Given the description of an element on the screen output the (x, y) to click on. 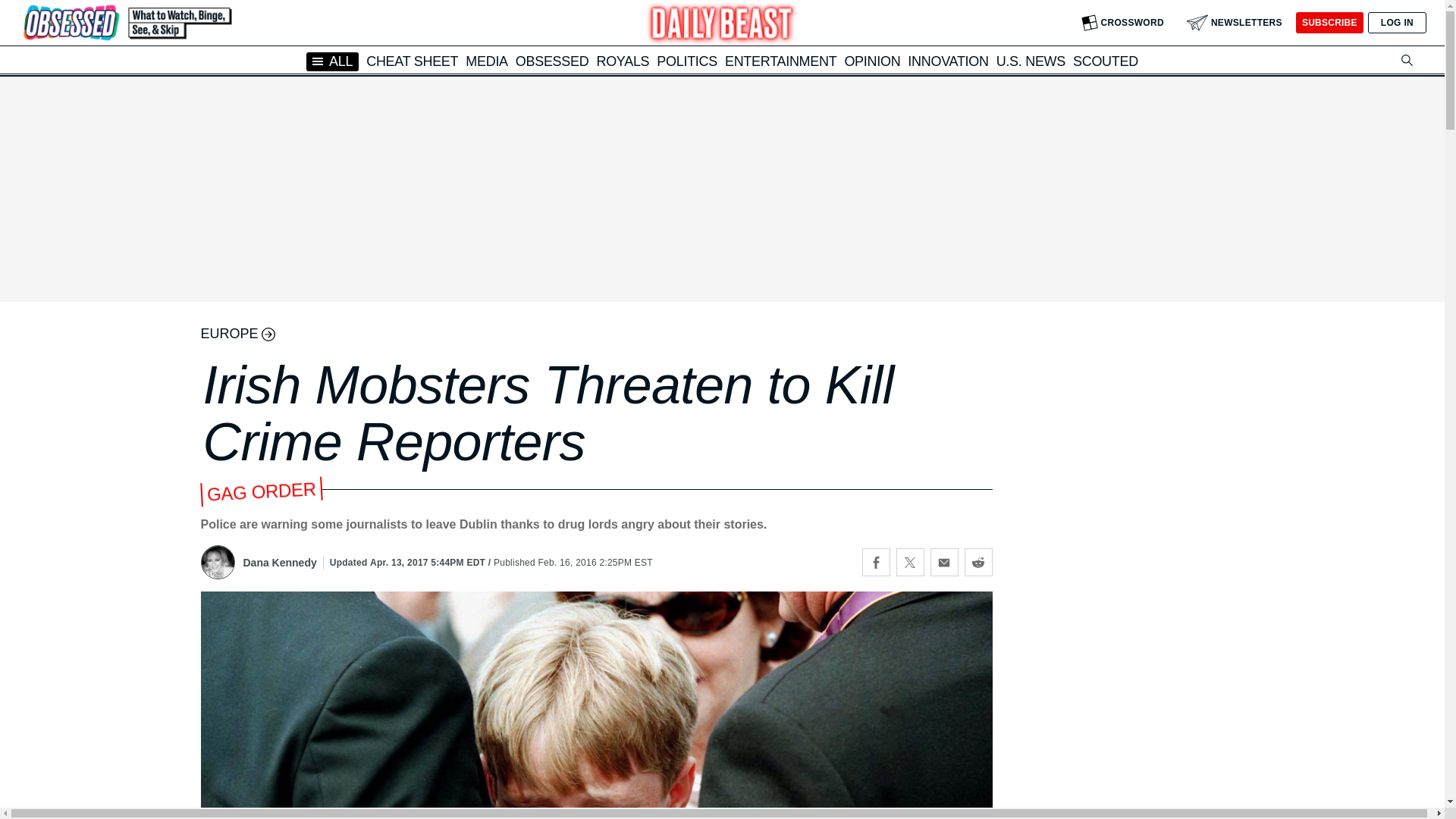
ENTERTAINMENT (780, 60)
ALL (331, 60)
SUBSCRIBE (1328, 22)
CHEAT SHEET (412, 60)
U.S. NEWS (1030, 60)
OBSESSED (552, 60)
OPINION (871, 60)
CROSSWORD (1122, 22)
